Given the description of an element on the screen output the (x, y) to click on. 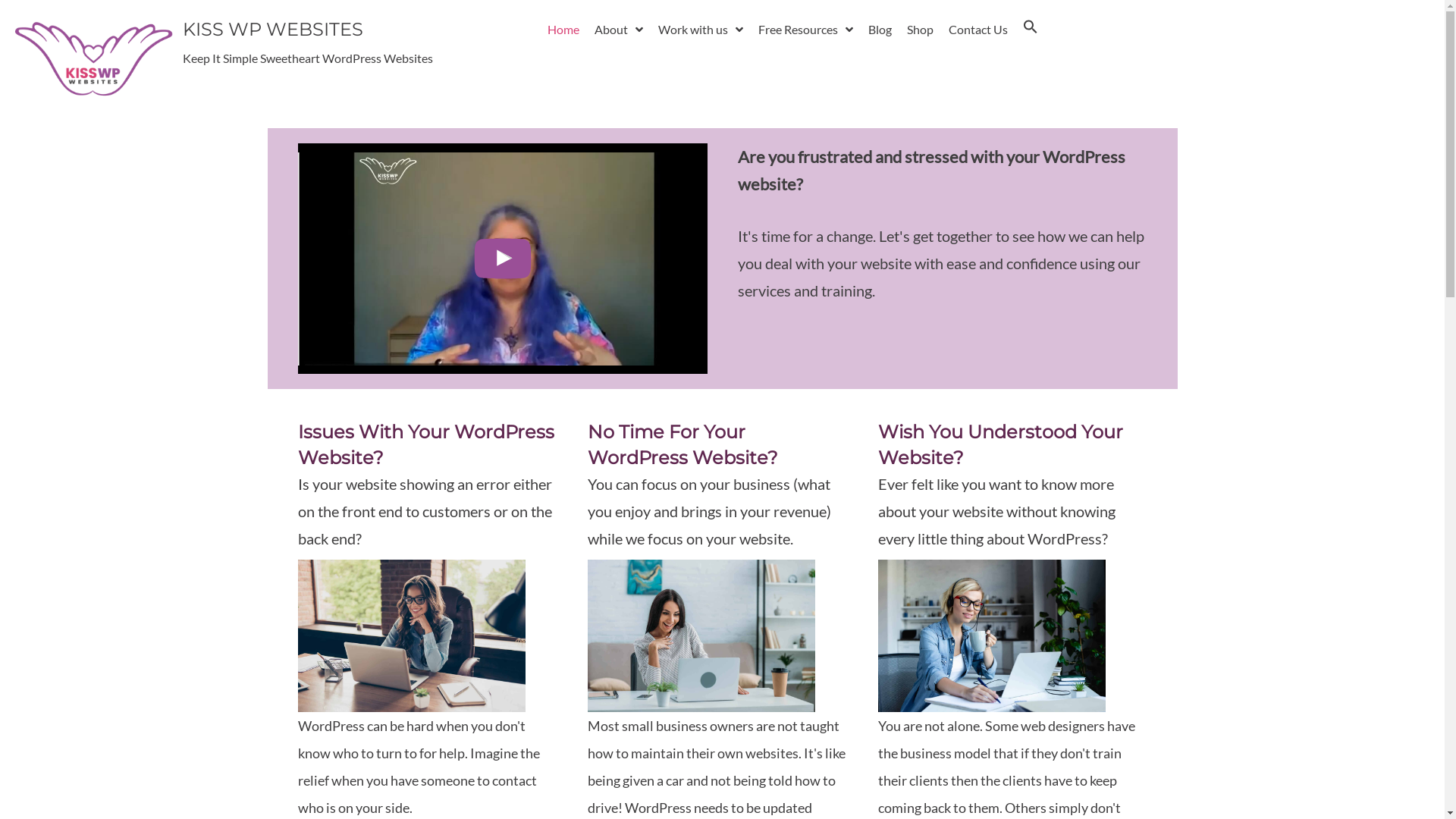
Home Element type: text (563, 29)
WordPress training online Element type: hover (991, 635)
About Element type: text (618, 29)
cropped-kissWp-CMYK-logo-1.png Element type: hover (93, 57)
Work with us Element type: text (700, 29)
Free Resources Element type: text (805, 29)
delighted woman with her updated WordPress website Element type: hover (701, 635)
Blog Element type: text (879, 29)
KISS WP WEBSITES Element type: text (272, 29)
Contact Us Element type: text (977, 29)
Shop Element type: text (920, 29)
happy woman looking at her WordPress website Element type: hover (410, 635)
